Given the description of an element on the screen output the (x, y) to click on. 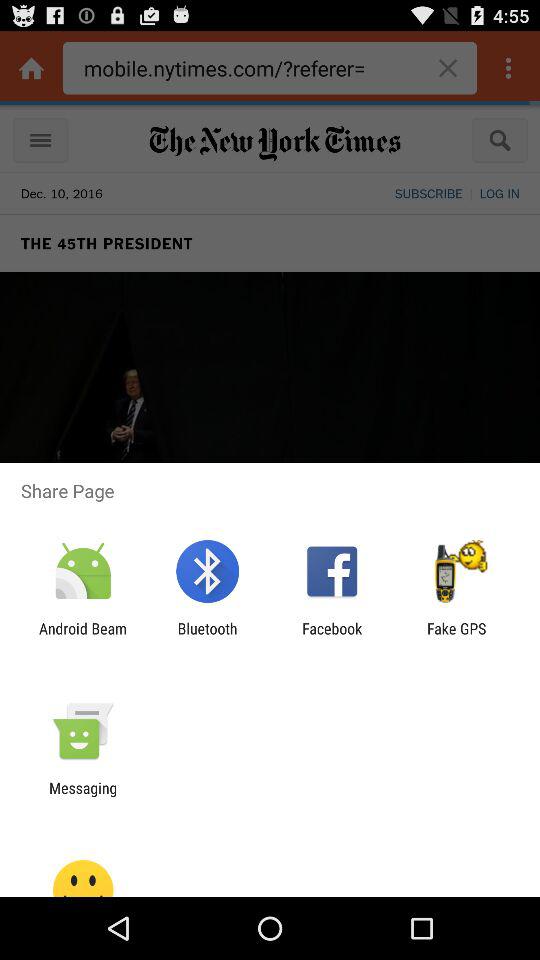
flip until the messaging icon (83, 796)
